Given the description of an element on the screen output the (x, y) to click on. 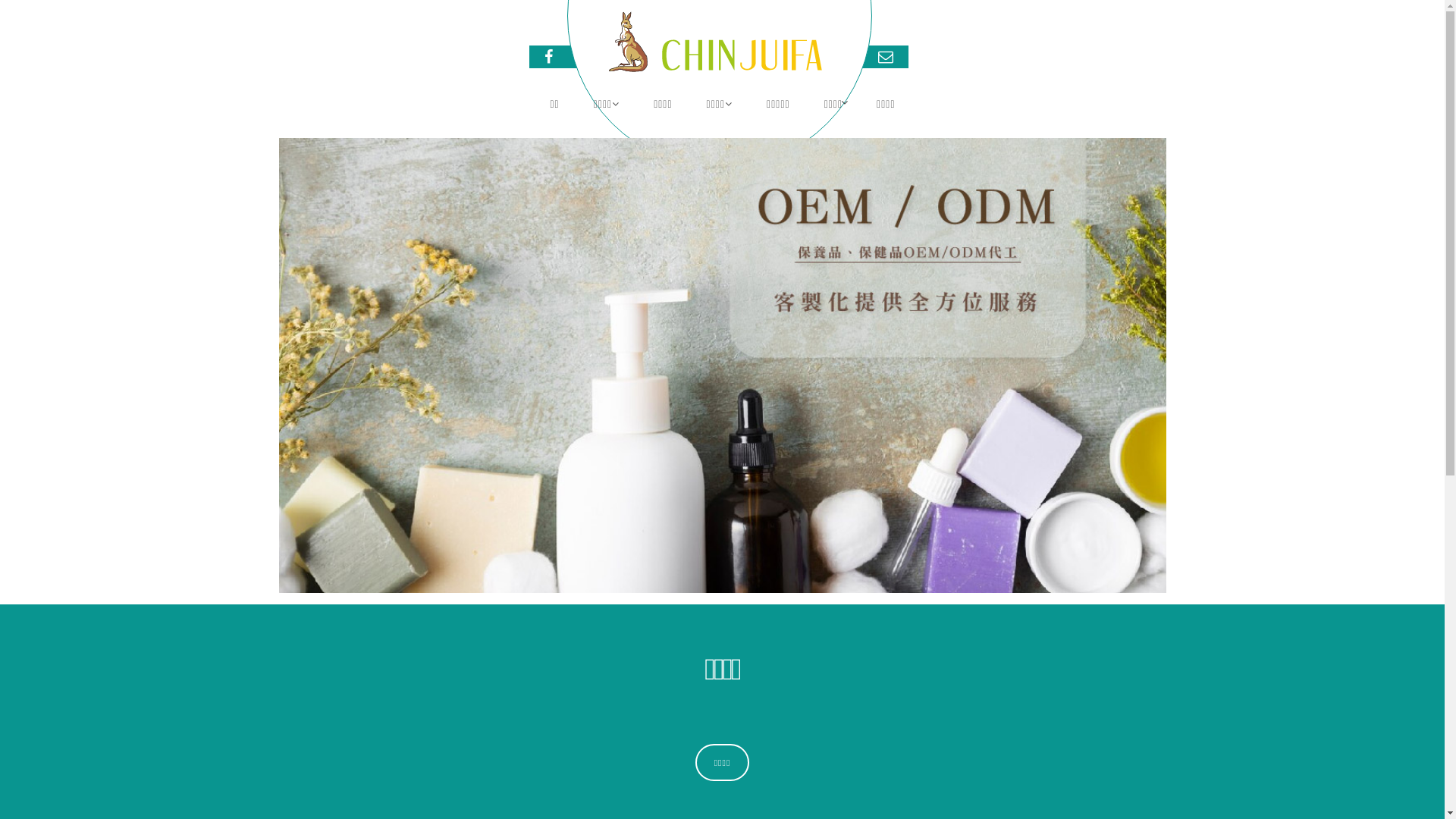
Renovate Element type: hover (714, 44)
